Given the description of an element on the screen output the (x, y) to click on. 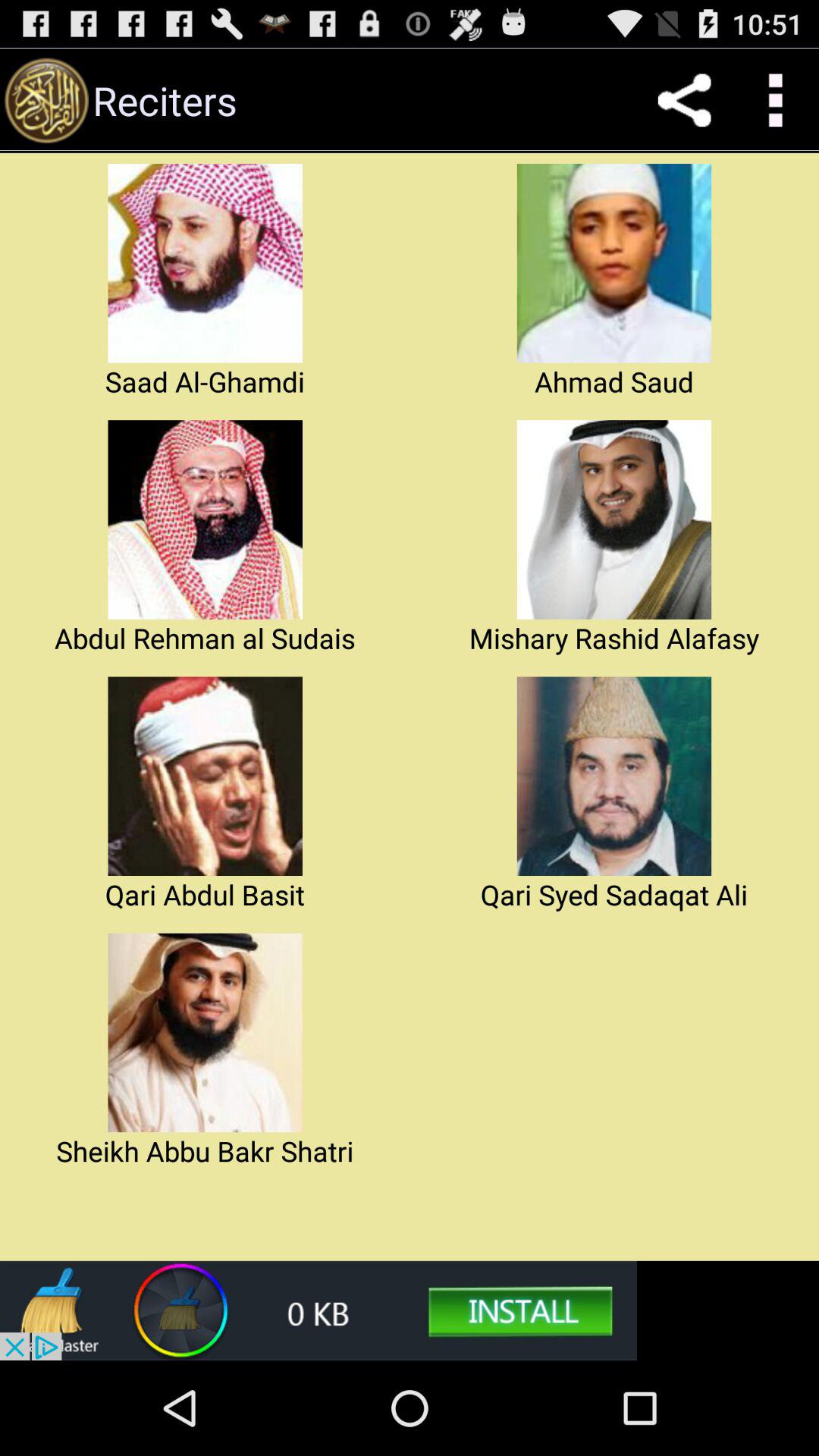
toggle customize and control (774, 100)
